Given the description of an element on the screen output the (x, y) to click on. 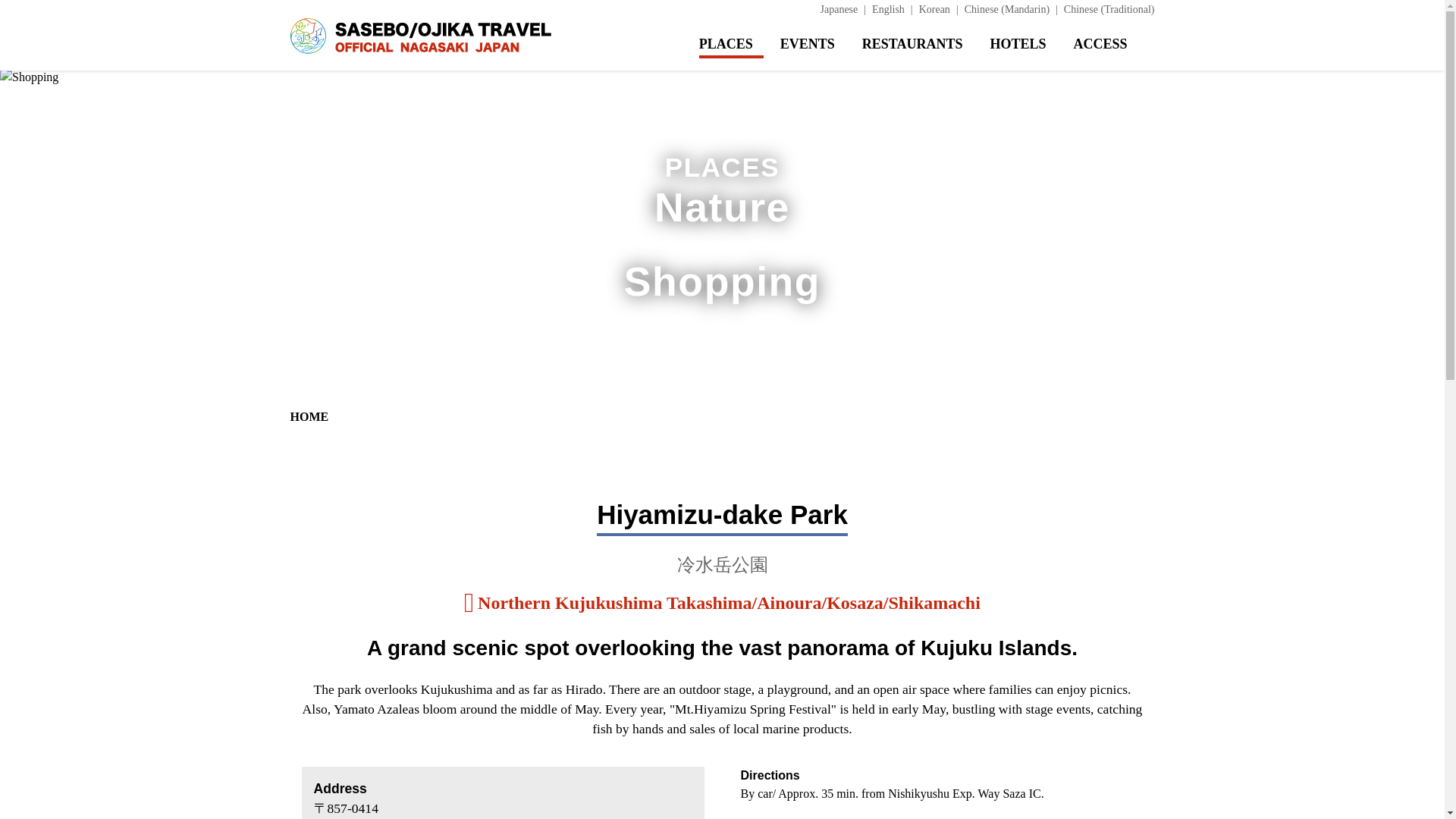
Korean (940, 9)
ACCESS (1113, 44)
English (895, 9)
HOME (309, 416)
Japanese (846, 9)
